Given the description of an element on the screen output the (x, y) to click on. 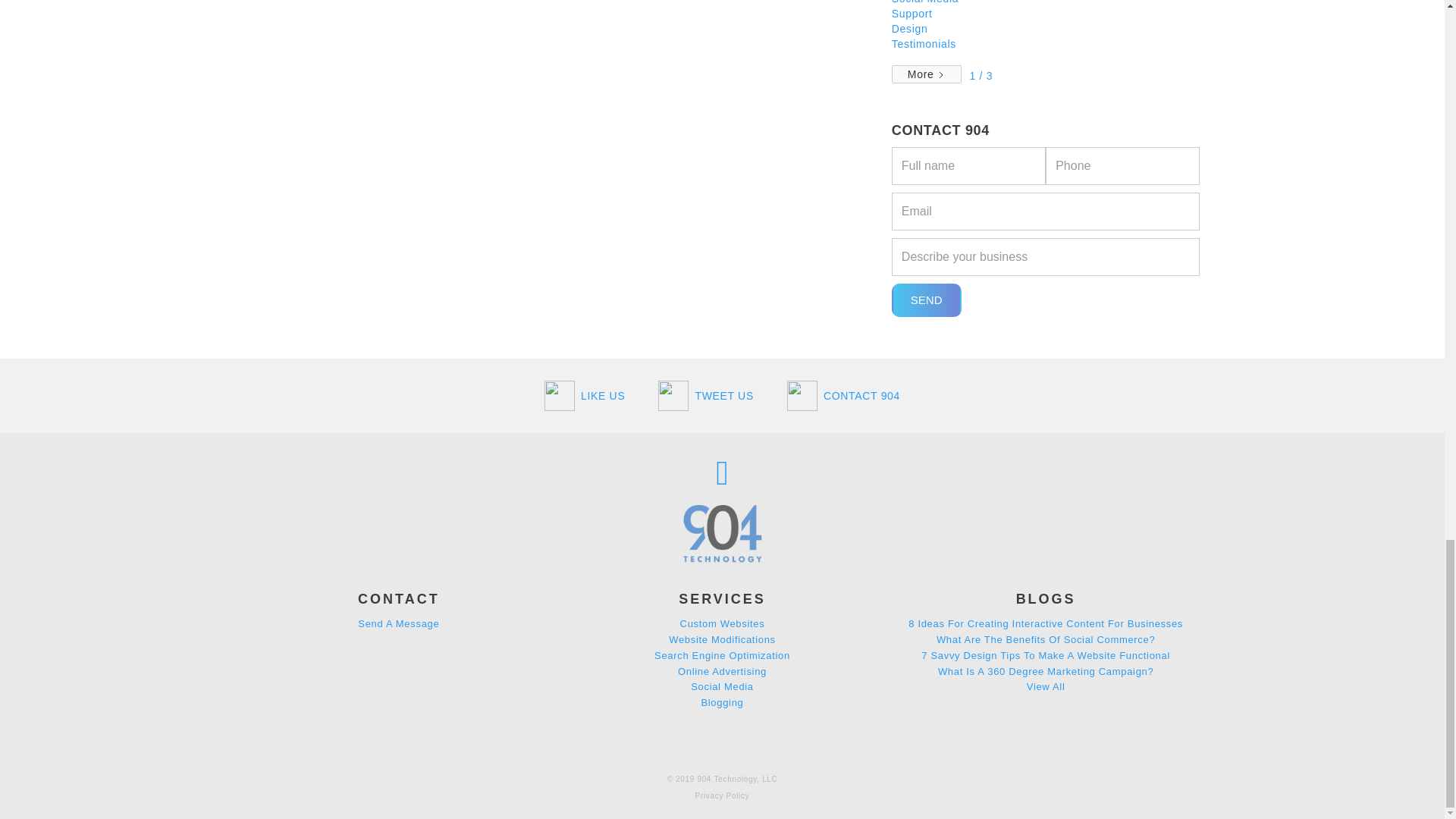
More (926, 74)
Social Media (924, 2)
CONTACT 904 (842, 395)
LIKE US (584, 395)
Send (925, 299)
Design (909, 28)
Support (912, 13)
TWEET US (706, 395)
Send (925, 299)
Testimonials (923, 43)
